Given the description of an element on the screen output the (x, y) to click on. 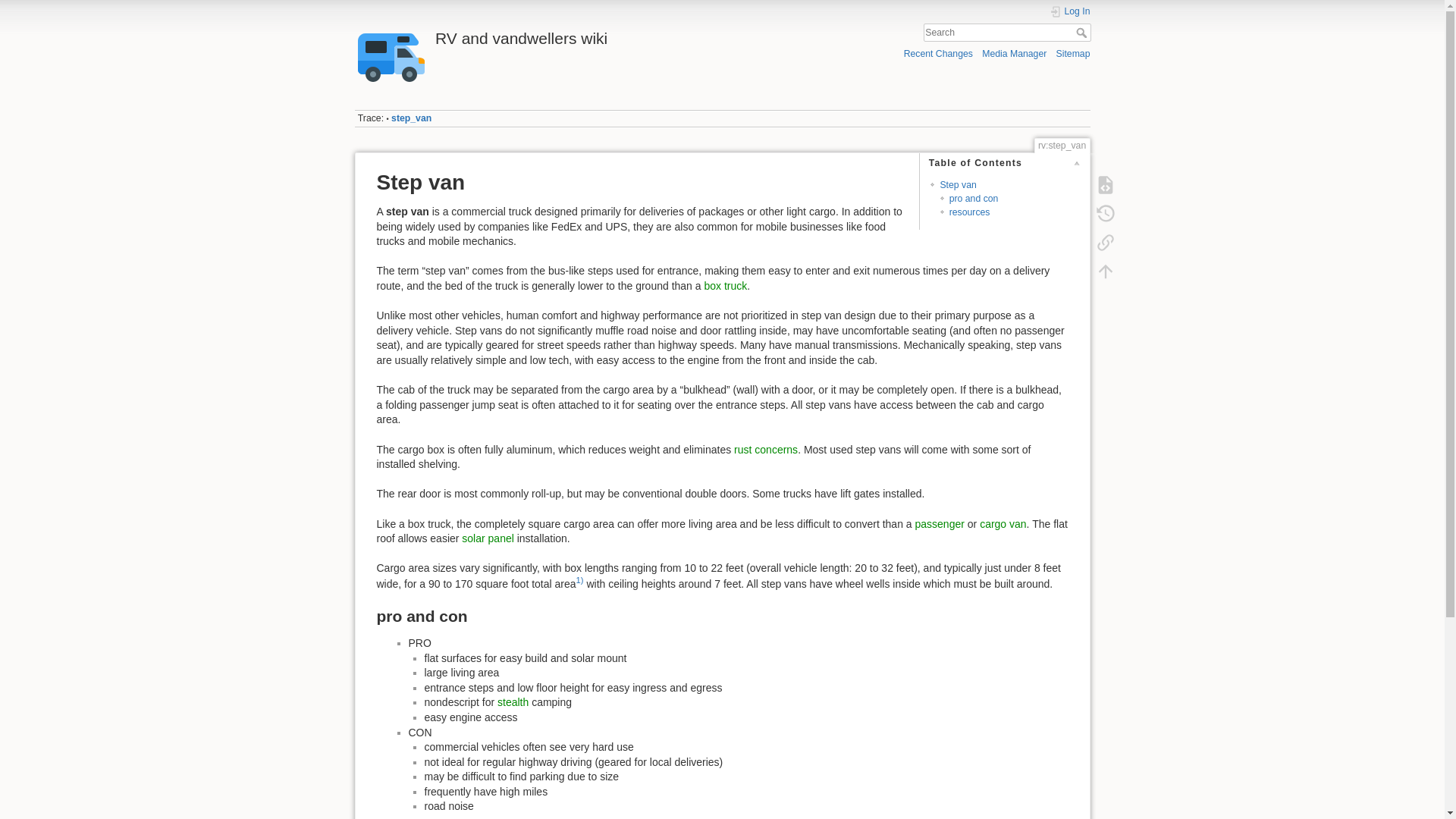
Recent Changes (938, 53)
stealth (512, 702)
Log In (1069, 11)
electrical:solar (487, 538)
Media Manager (1013, 53)
box truck (724, 285)
Sitemap (1073, 53)
Search (1082, 32)
resources (969, 212)
solar panel (487, 538)
